Given the description of an element on the screen output the (x, y) to click on. 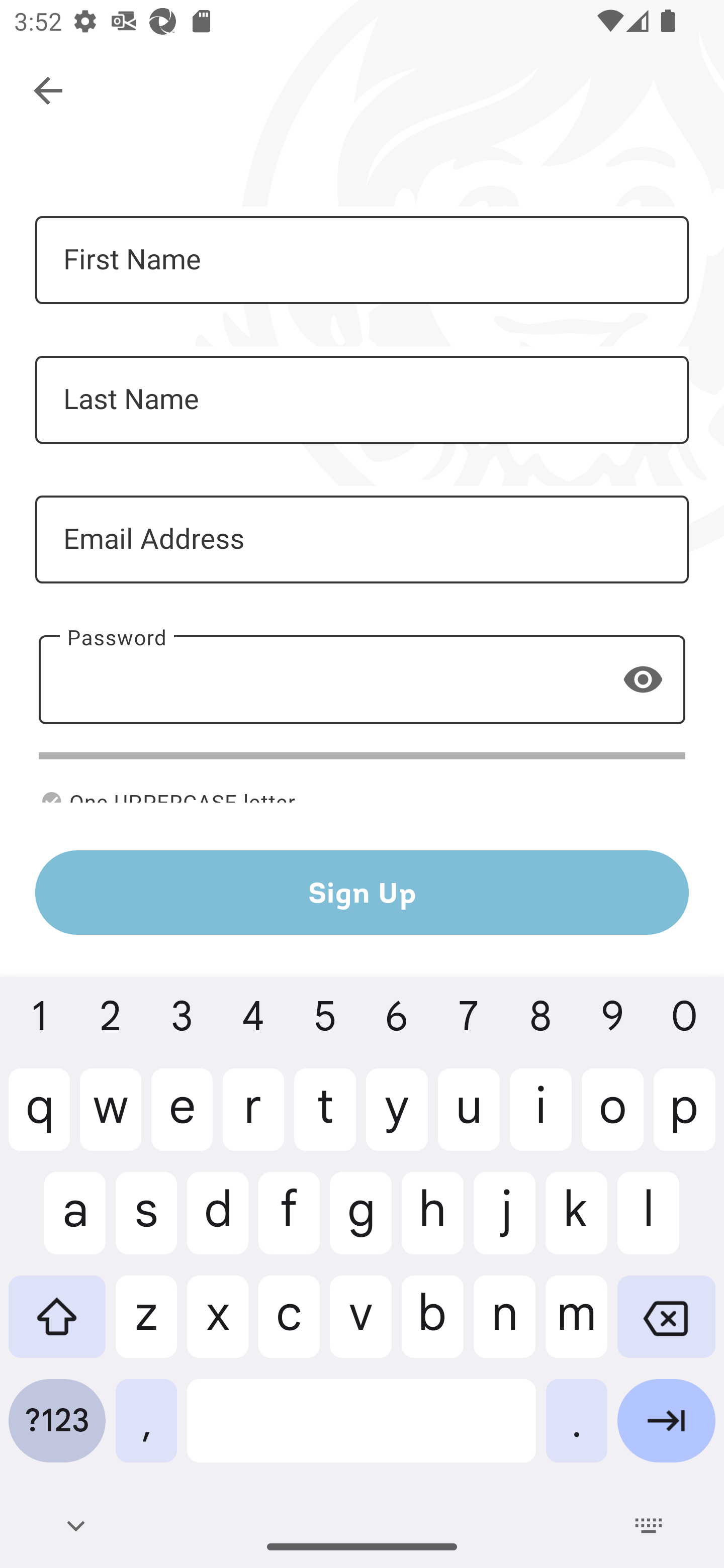
Navigate up (49, 91)
First Name - Required (361, 260)
Last Name - Required (361, 399)
Email Address - Required (361, 539)
- Required (361, 679)
Show password (642, 678)
Sign Up (361, 891)
